Given the description of an element on the screen output the (x, y) to click on. 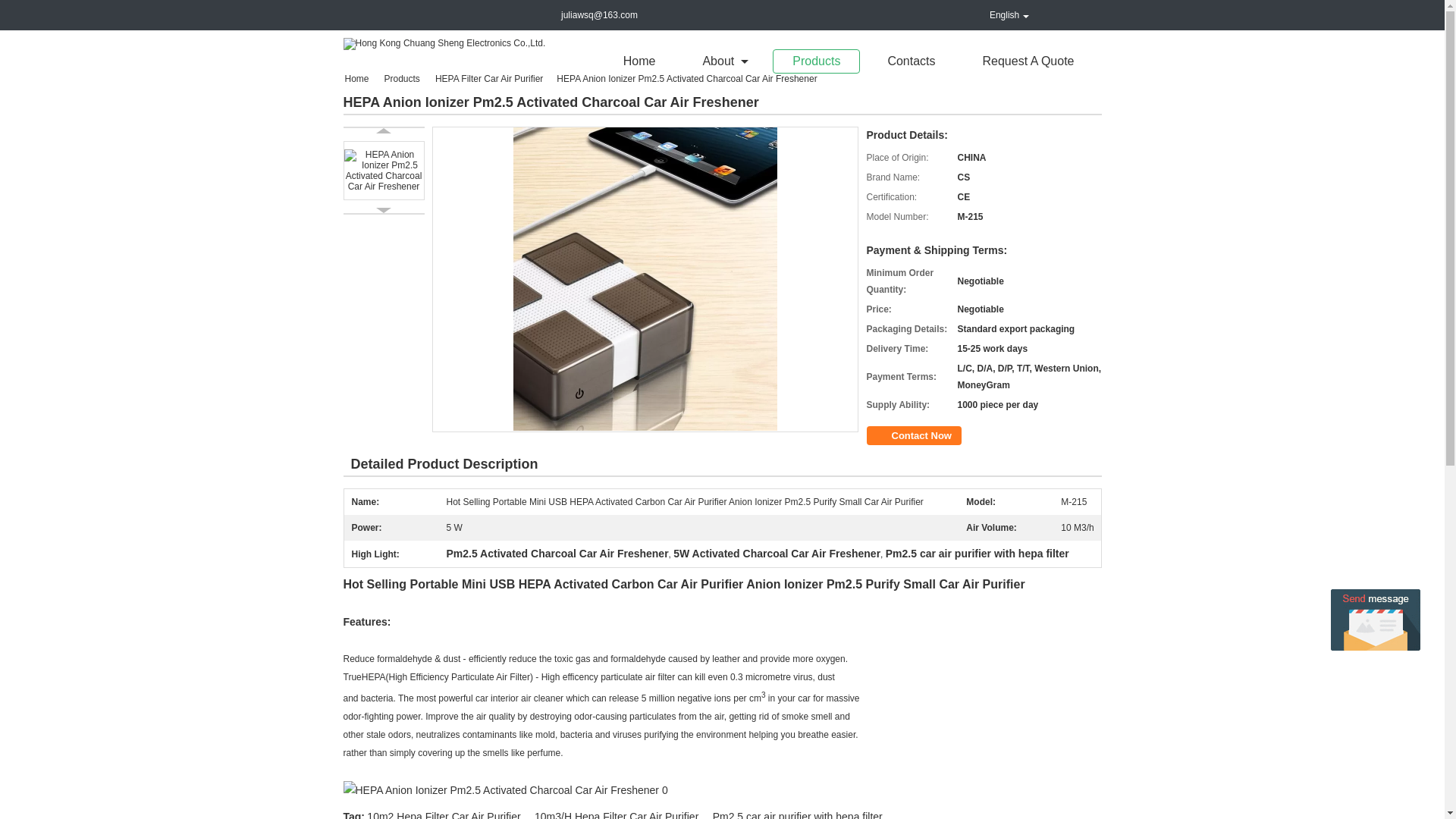
Hong Kong Chuang Sheng Electronics Co.,Ltd. (443, 42)
Products (816, 61)
Contact Now (913, 435)
Products (403, 78)
Contacts (911, 61)
HEPA Filter Car Air Purifier (490, 78)
Pm2.5 car air purifier with hepa filter (797, 814)
10m2 Hepa Filter Car Air Purifier (442, 814)
Home (360, 78)
About (723, 61)
Home (639, 61)
